Given the description of an element on the screen output the (x, y) to click on. 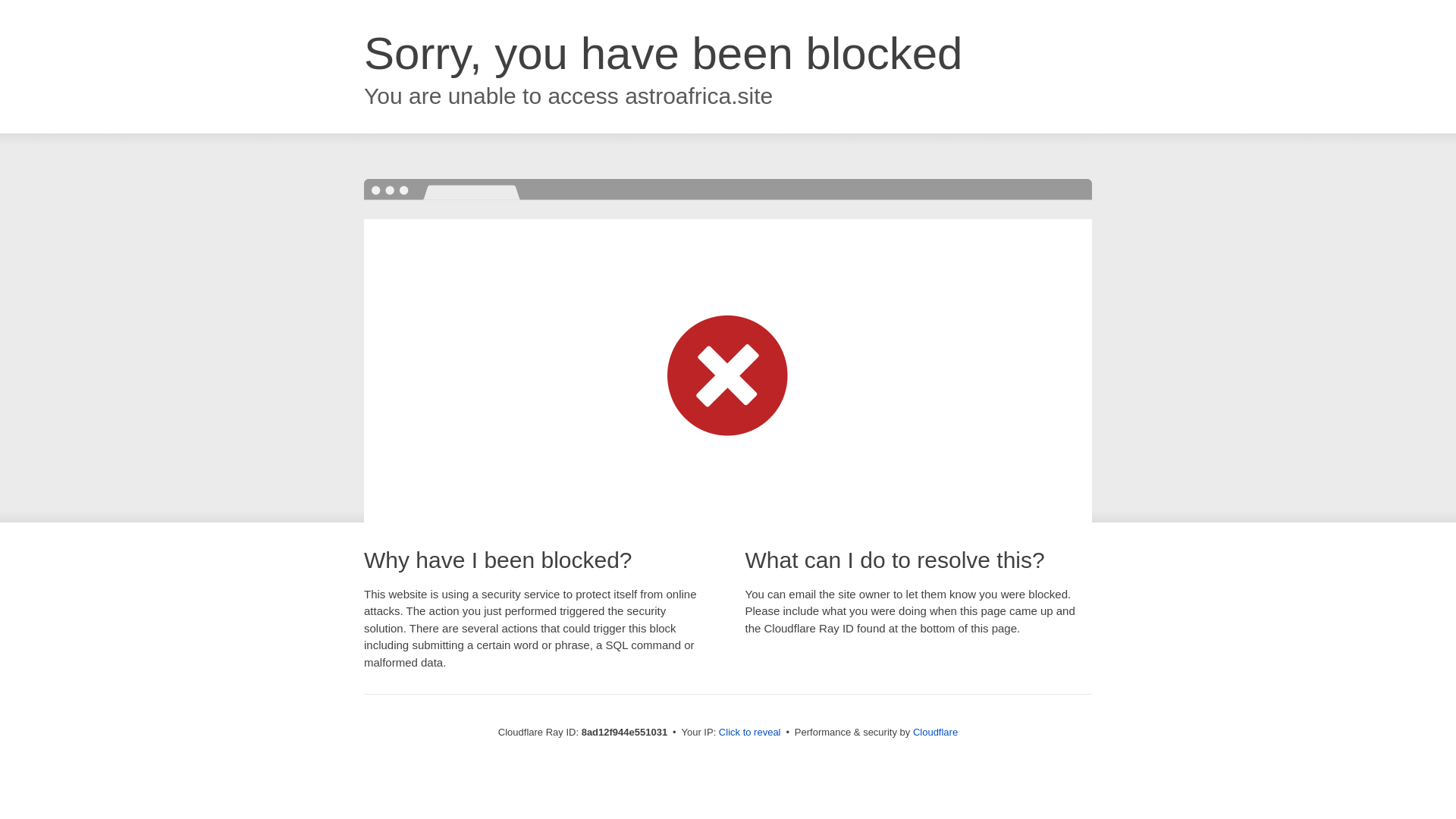
Click to reveal (749, 732)
Cloudflare (935, 731)
